Given the description of an element on the screen output the (x, y) to click on. 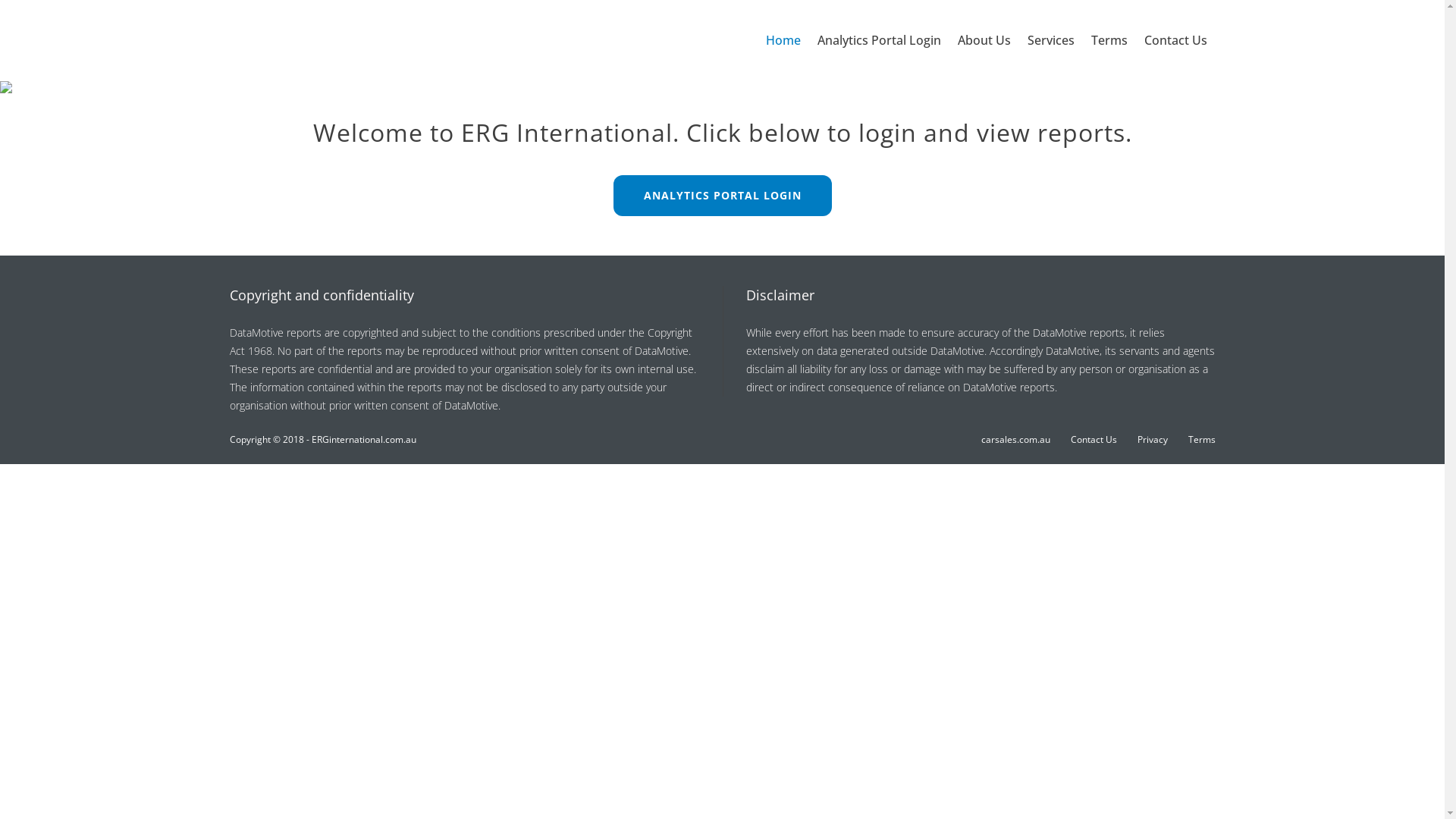
Terms Element type: text (1200, 439)
Analytics Portal Login Element type: text (878, 40)
Terms Element type: text (1108, 40)
Contact Us Element type: text (1093, 439)
Home Element type: text (783, 40)
Services Element type: text (1050, 40)
Privacy Element type: text (1152, 439)
About Us Element type: text (983, 40)
carsales.com.au Element type: text (1015, 439)
ANALYTICS PORTAL LOGIN Element type: text (721, 195)
Contact Us Element type: text (1174, 40)
